Given the description of an element on the screen output the (x, y) to click on. 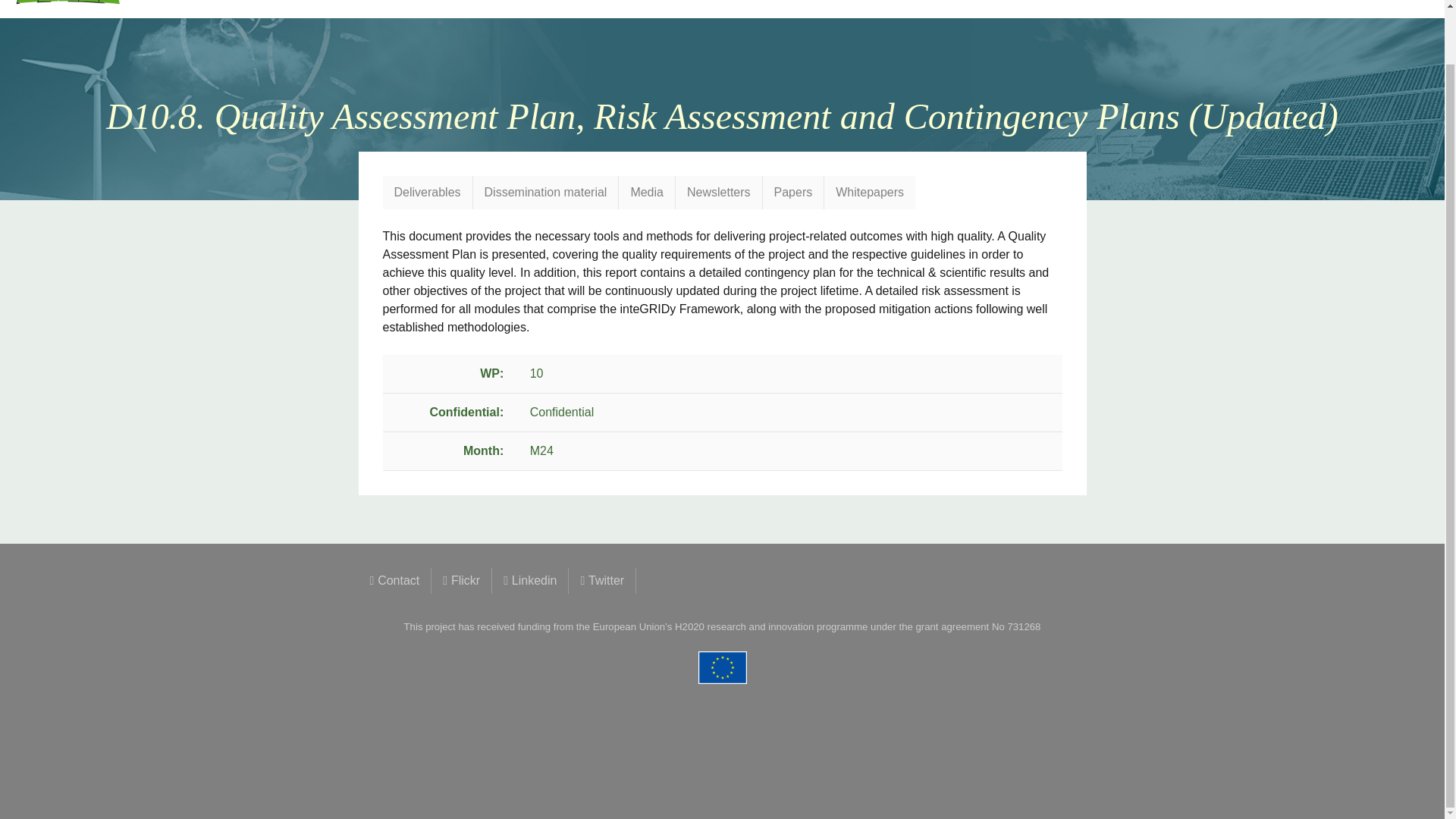
Whitepapers (869, 192)
Papers (793, 192)
CONSORTIUM (1122, 2)
RESOURCES (1384, 2)
Twitter (602, 580)
Media (646, 192)
PILOTS (1198, 2)
Linkedin (530, 580)
Flickr (461, 580)
HOME (977, 2)
